Given the description of an element on the screen output the (x, y) to click on. 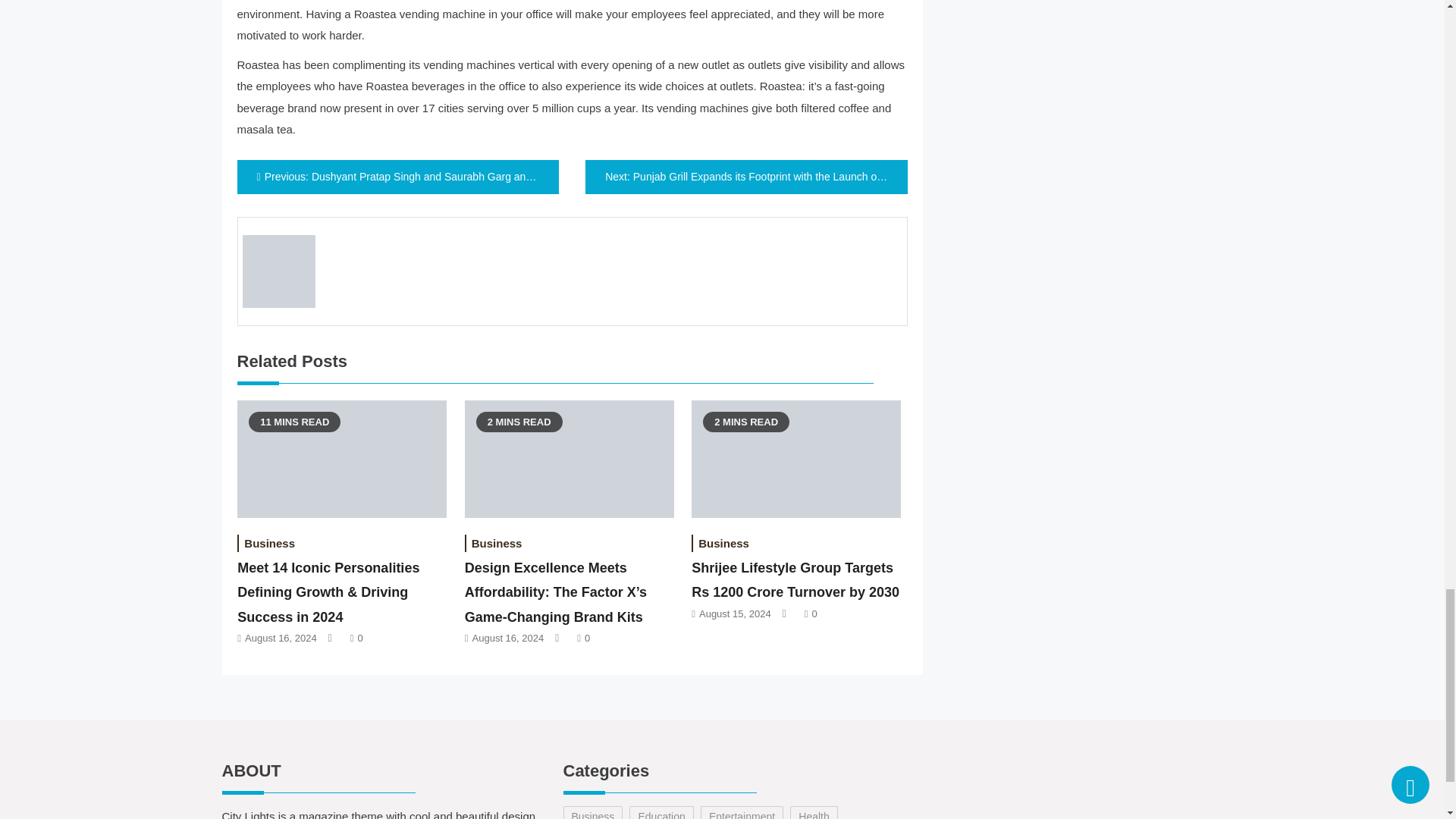
August 15, 2024 (734, 613)
Business (269, 543)
Business (723, 543)
Business (496, 543)
August 16, 2024 (507, 637)
August 16, 2024 (280, 637)
